Given the description of an element on the screen output the (x, y) to click on. 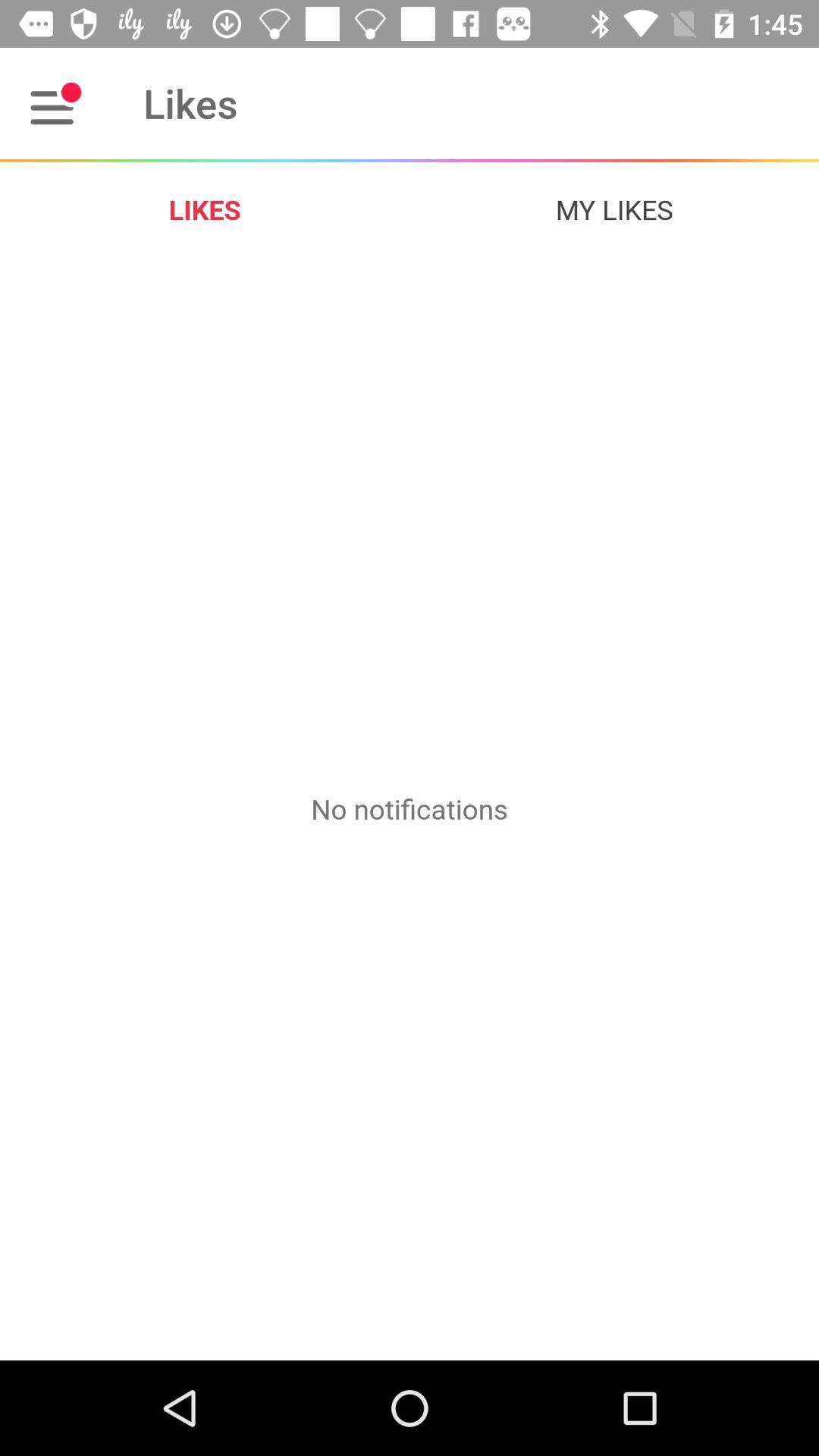
jump until my likes (614, 209)
